Given the description of an element on the screen output the (x, y) to click on. 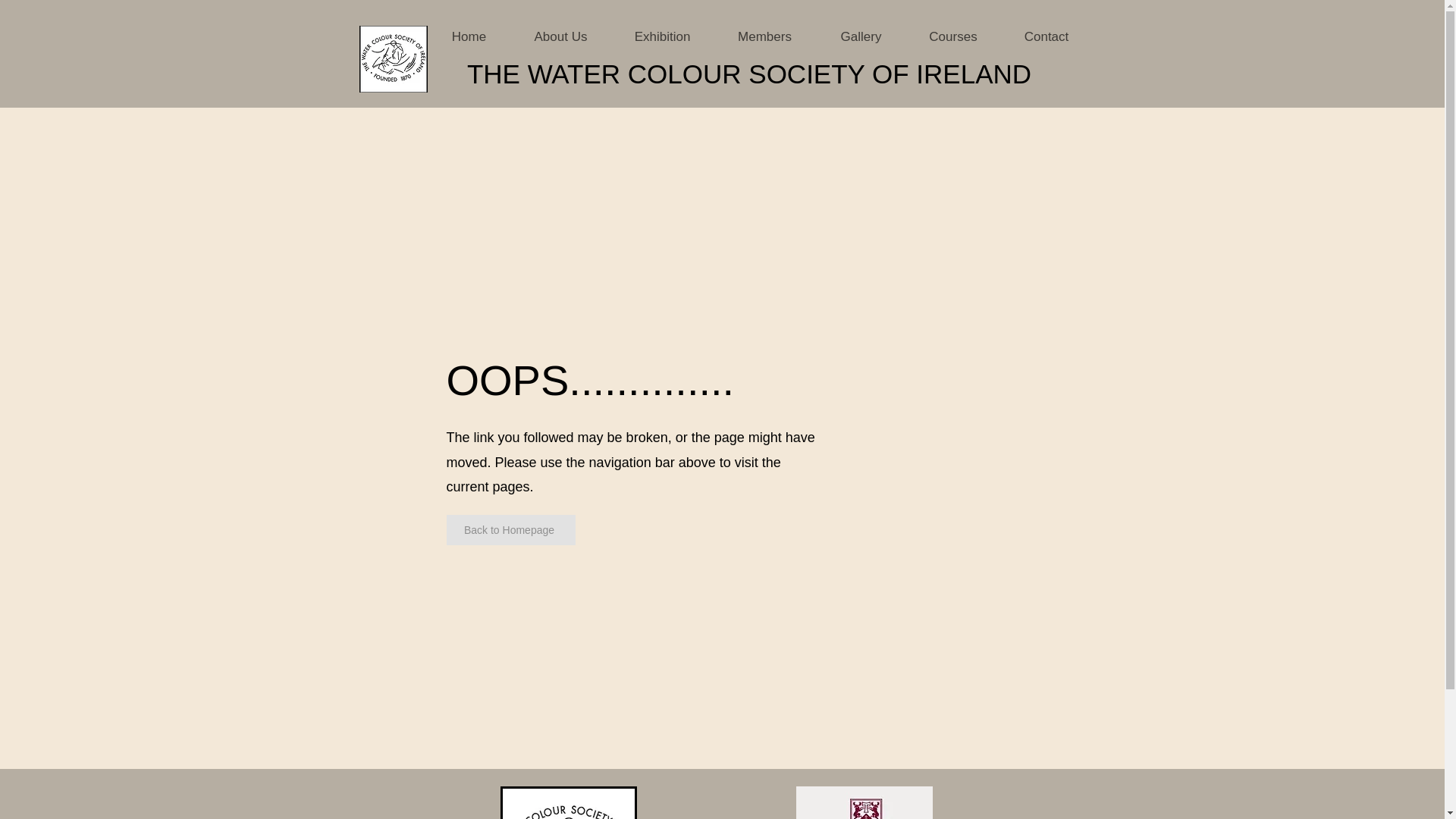
Contact (1045, 37)
Courses (953, 37)
Back to Homepage (510, 530)
Home (469, 37)
Gallery (861, 37)
About Us (561, 37)
Members (764, 37)
Exhibition (662, 37)
